Given the description of an element on the screen output the (x, y) to click on. 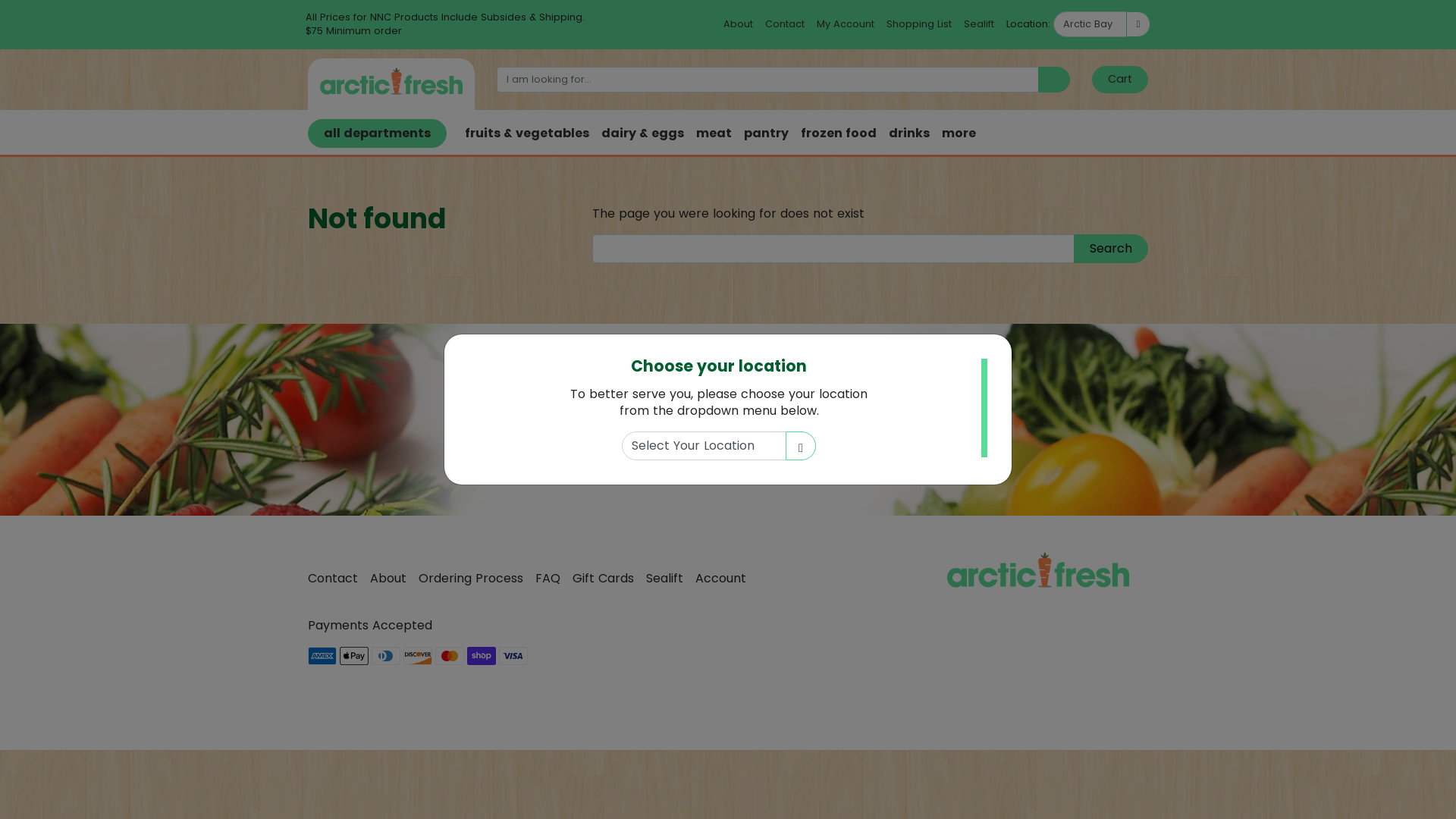
dairy & eggs Element type: text (642, 133)
About Element type: text (738, 24)
Sealift Element type: text (670, 578)
Gift Cards Element type: text (609, 578)
fruits & vegetables Element type: text (526, 133)
About Element type: text (394, 578)
Shopping List Element type: text (918, 24)
drinks Element type: text (908, 133)
more Element type: text (958, 133)
Ordering Process Element type: text (476, 578)
Submit Element type: text (889, 452)
Contact Element type: text (338, 578)
meat Element type: text (713, 133)
Account Element type: text (726, 578)
My Account Element type: text (845, 24)
all departments Element type: text (376, 133)
Sealift Element type: text (978, 24)
Contact Element type: text (784, 24)
Search Element type: text (1110, 248)
pantry Element type: text (765, 133)
frozen food Element type: text (838, 133)
FAQ Element type: text (553, 578)
Cart Element type: text (1120, 79)
